Given the description of an element on the screen output the (x, y) to click on. 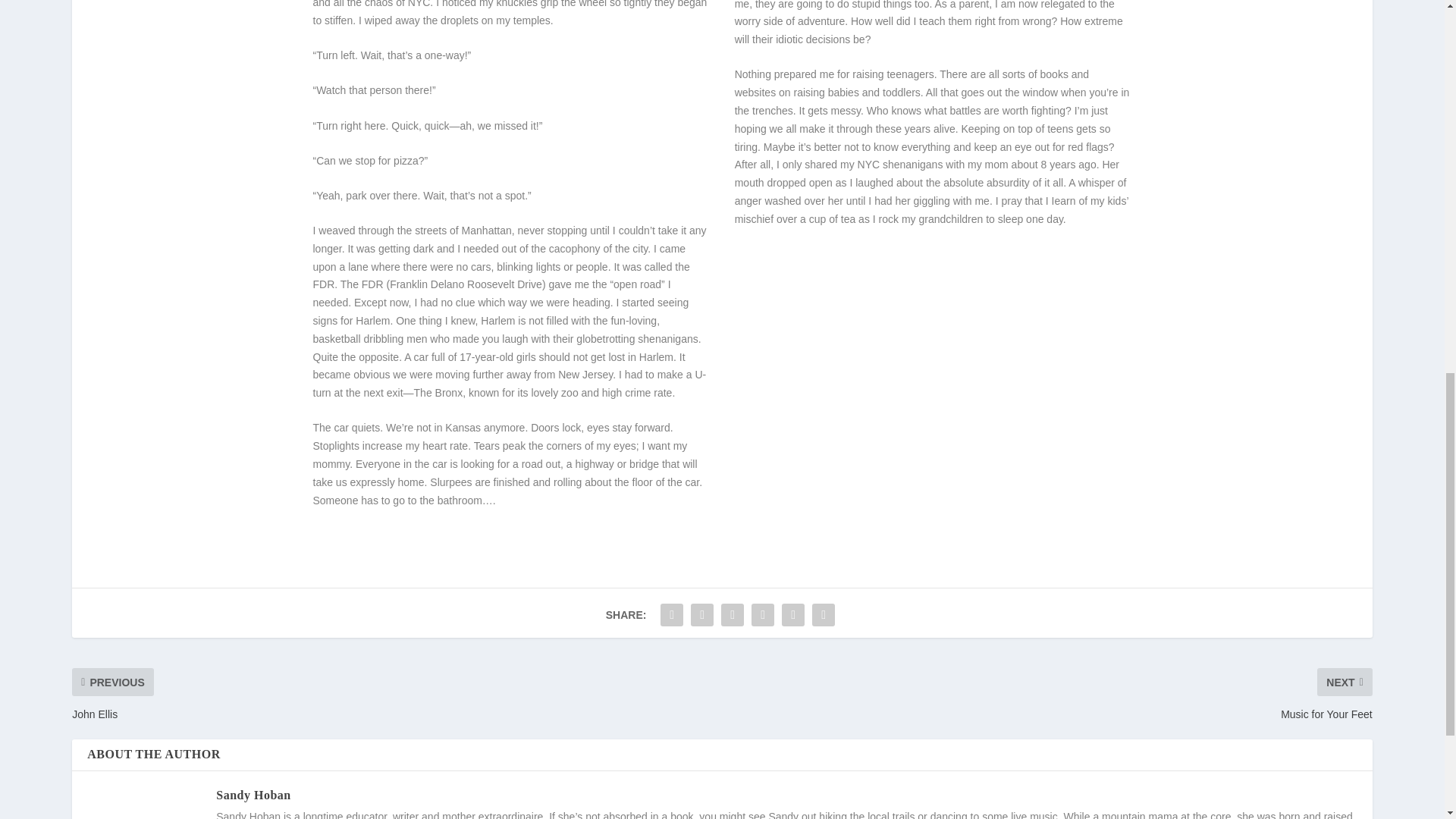
View all posts by Sandy Hoban (252, 794)
Share "Coca-Cola Slurpees" via LinkedIn (792, 614)
Share "Coca-Cola Slurpees" via Email (823, 614)
Share "Coca-Cola Slurpees" via Facebook (671, 614)
Sandy Hoban (252, 794)
Share "Coca-Cola Slurpees" via Twitter (702, 614)
Share "Coca-Cola Slurpees" via Pinterest (762, 614)
